Given the description of an element on the screen output the (x, y) to click on. 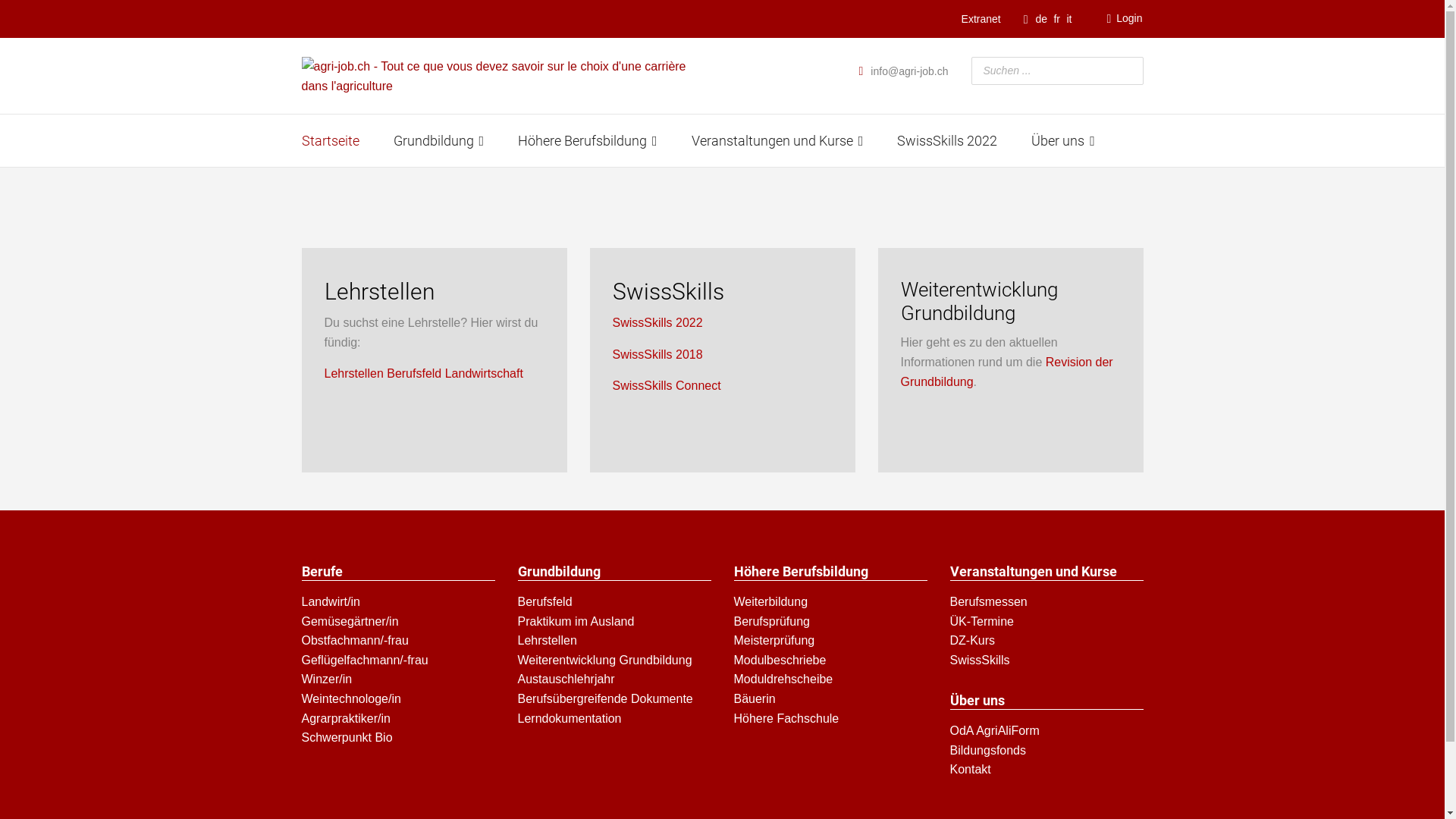
Bildungsfonds Element type: text (1045, 750)
Austauschlehrjahr Element type: text (613, 679)
SwissSkills 2022 Element type: text (657, 322)
Login Element type: text (1123, 18)
Modulbeschriebe Element type: text (830, 660)
info@agri-job.ch Element type: text (908, 70)
Grundbildung Element type: text (438, 140)
Schwerpunkt Bio Element type: text (398, 737)
Veranstaltungen und Kurse Element type: text (777, 140)
Weintechnologe/in Element type: text (398, 699)
SwissSkills 2022 Element type: text (946, 140)
DZ-Kurs Element type: text (1045, 640)
SwissSkills Element type: text (1045, 660)
Obstfachmann/-frau Element type: text (398, 640)
Berufsfeld Element type: text (613, 601)
Lerndokumentation Element type: text (613, 718)
it Element type: text (1068, 18)
de Element type: text (1041, 18)
SwissSkills 2018 Element type: text (657, 354)
Moduldrehscheibe Element type: text (830, 679)
fr Element type: text (1056, 18)
Extranet Element type: text (981, 18)
OdA AgriAliForm Element type: text (1045, 730)
Agrarpraktiker/in Element type: text (398, 718)
Praktikum im Ausland Element type: text (613, 621)
Winzer/in Element type: text (398, 679)
Kontakt Element type: text (1045, 769)
Weiterbildung Element type: text (830, 601)
Weiterentwicklung Grundbildung Element type: text (613, 660)
Lehrstellen Berufsfeld Landwirtschaft Element type: text (423, 373)
Lehrstellen Element type: text (613, 640)
Startseite Element type: text (329, 140)
Berufsmessen Element type: text (1045, 601)
SwissSkills Connect Element type: text (666, 385)
Revision der Grundbildung Element type: text (1006, 371)
Landwirt/in Element type: text (398, 601)
